Given the description of an element on the screen output the (x, y) to click on. 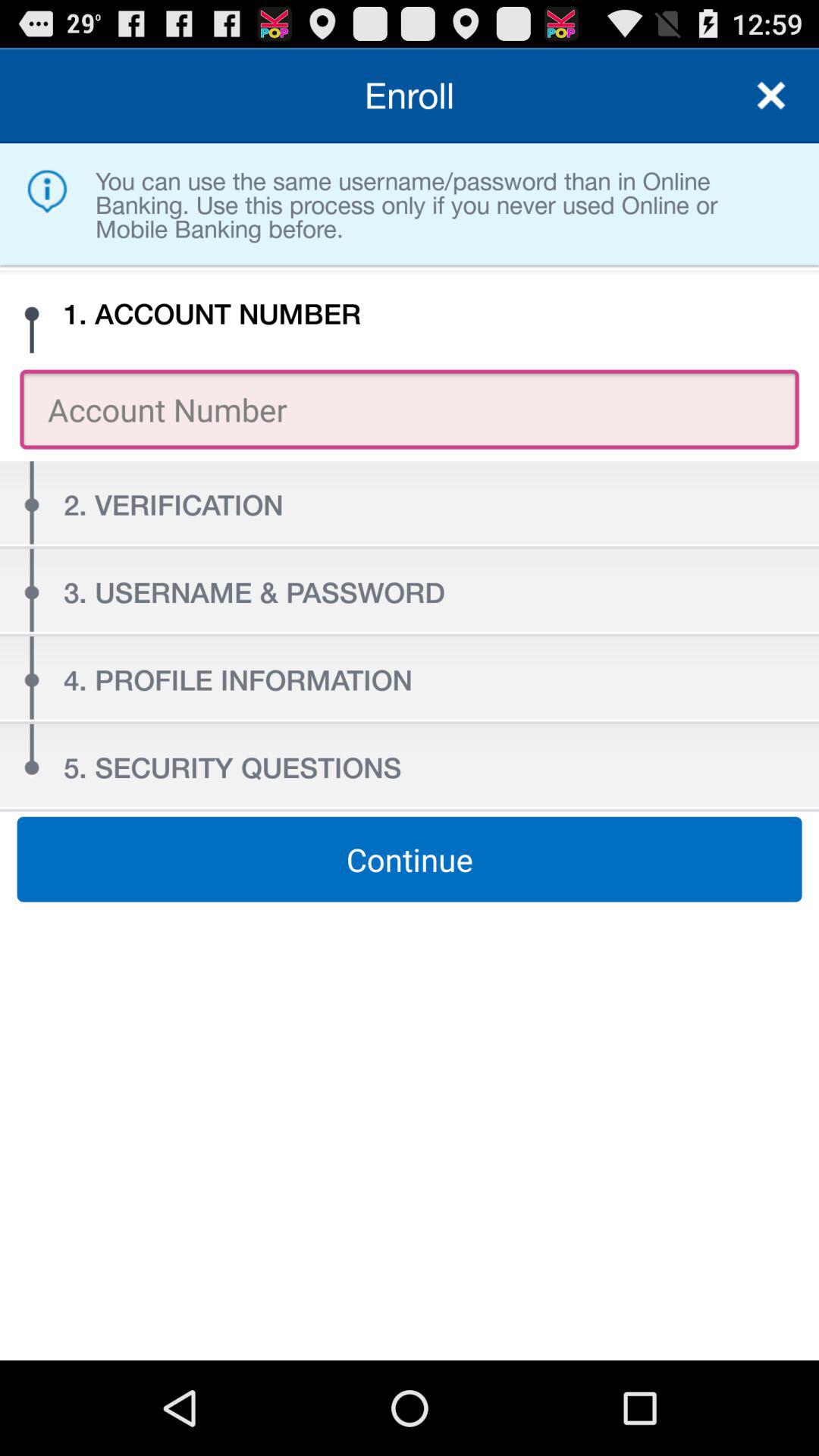
click item above you can use icon (771, 95)
